Given the description of an element on the screen output the (x, y) to click on. 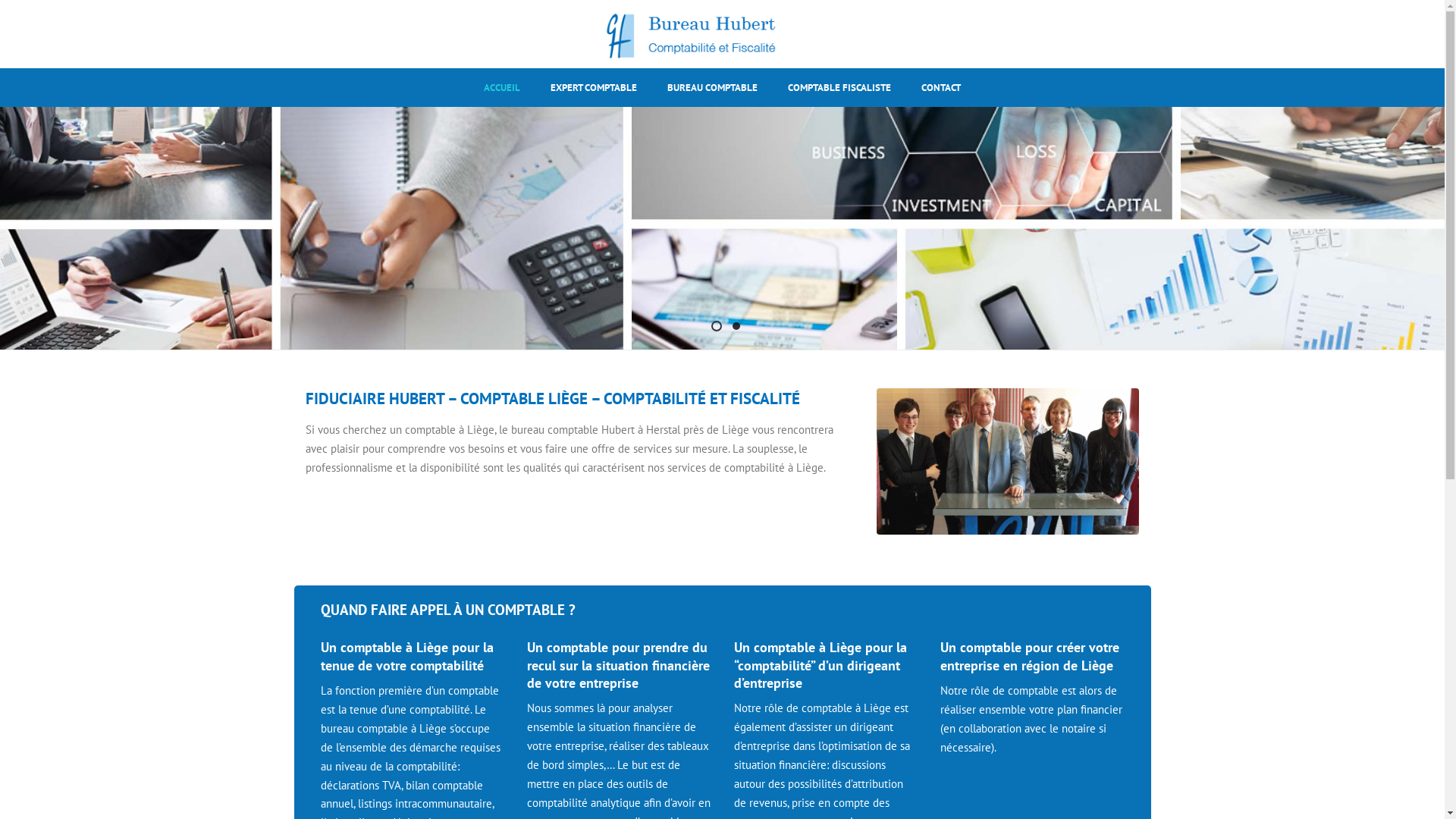
BUREAU COMPTABLE Element type: text (712, 87)
expert-comptable-liege-bureau-hubert Element type: hover (1007, 461)
ACCUEIL Element type: text (501, 87)
CONTACT Element type: text (940, 87)
EXPERT COMPTABLE Element type: text (593, 87)
COMPTABLE FISCALISTE Element type: text (839, 87)
